Given the description of an element on the screen output the (x, y) to click on. 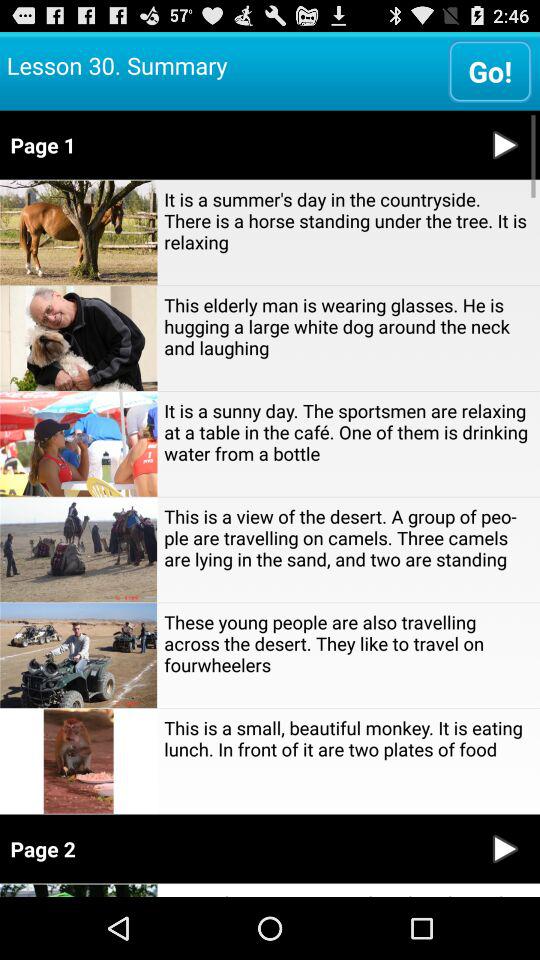
play (505, 848)
